Given the description of an element on the screen output the (x, y) to click on. 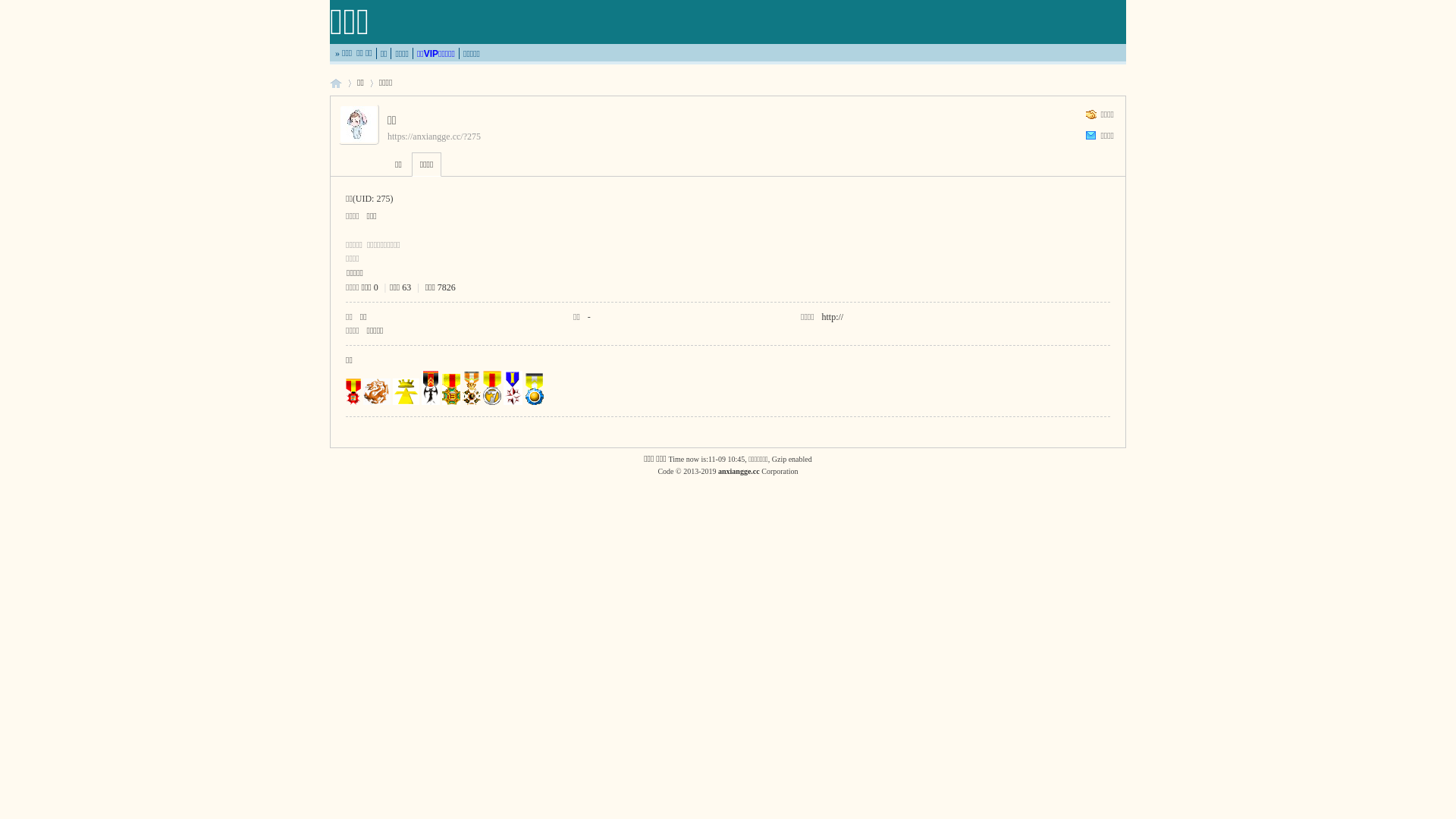
https://anxiangge.cc/?275 Element type: text (433, 136)
http:// Element type: text (833, 316)
anxiangge.cc Element type: text (738, 471)
